Given the description of an element on the screen output the (x, y) to click on. 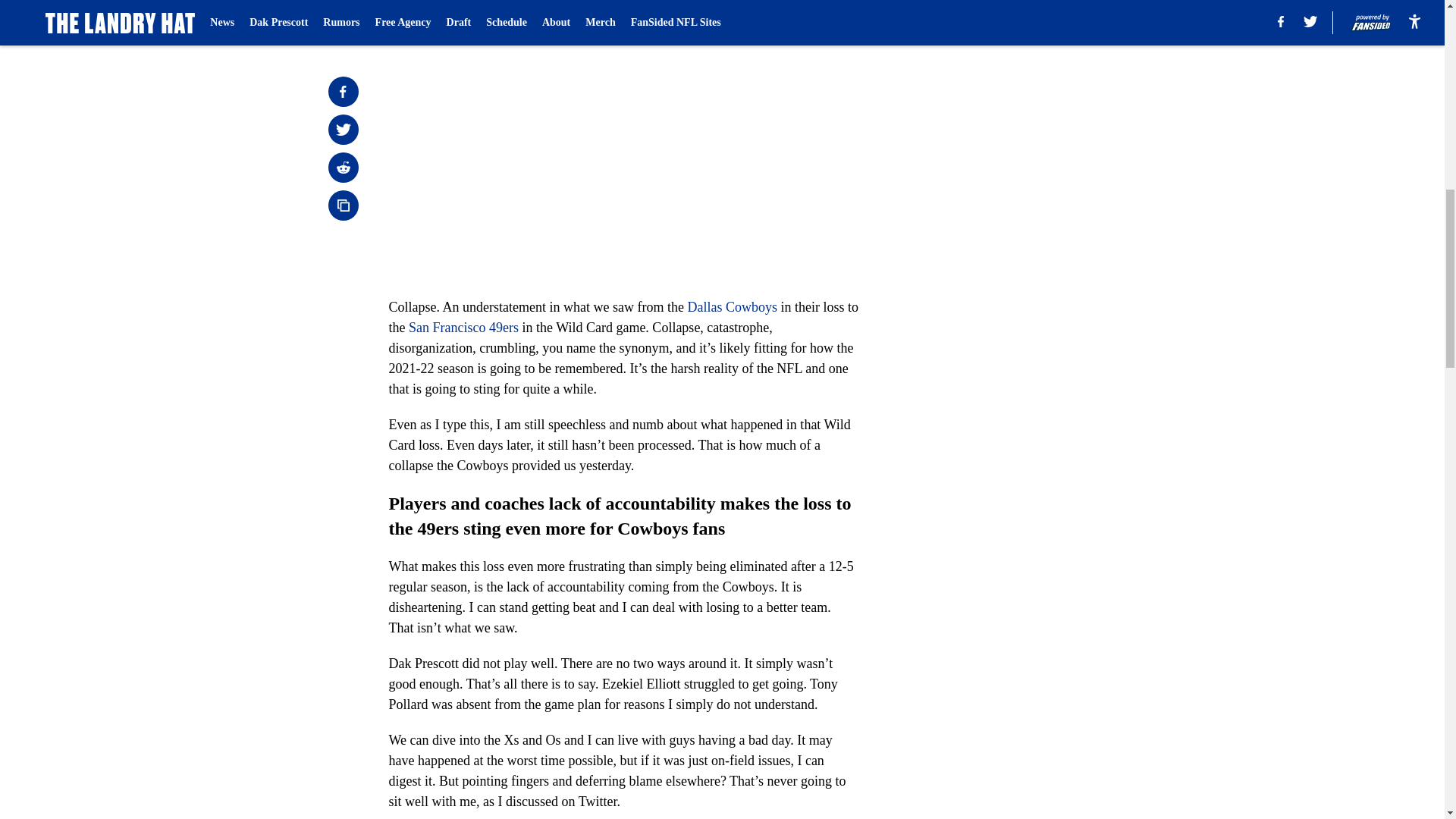
Dallas Cowboys (732, 306)
San Francisco 49ers (463, 327)
